Given the description of an element on the screen output the (x, y) to click on. 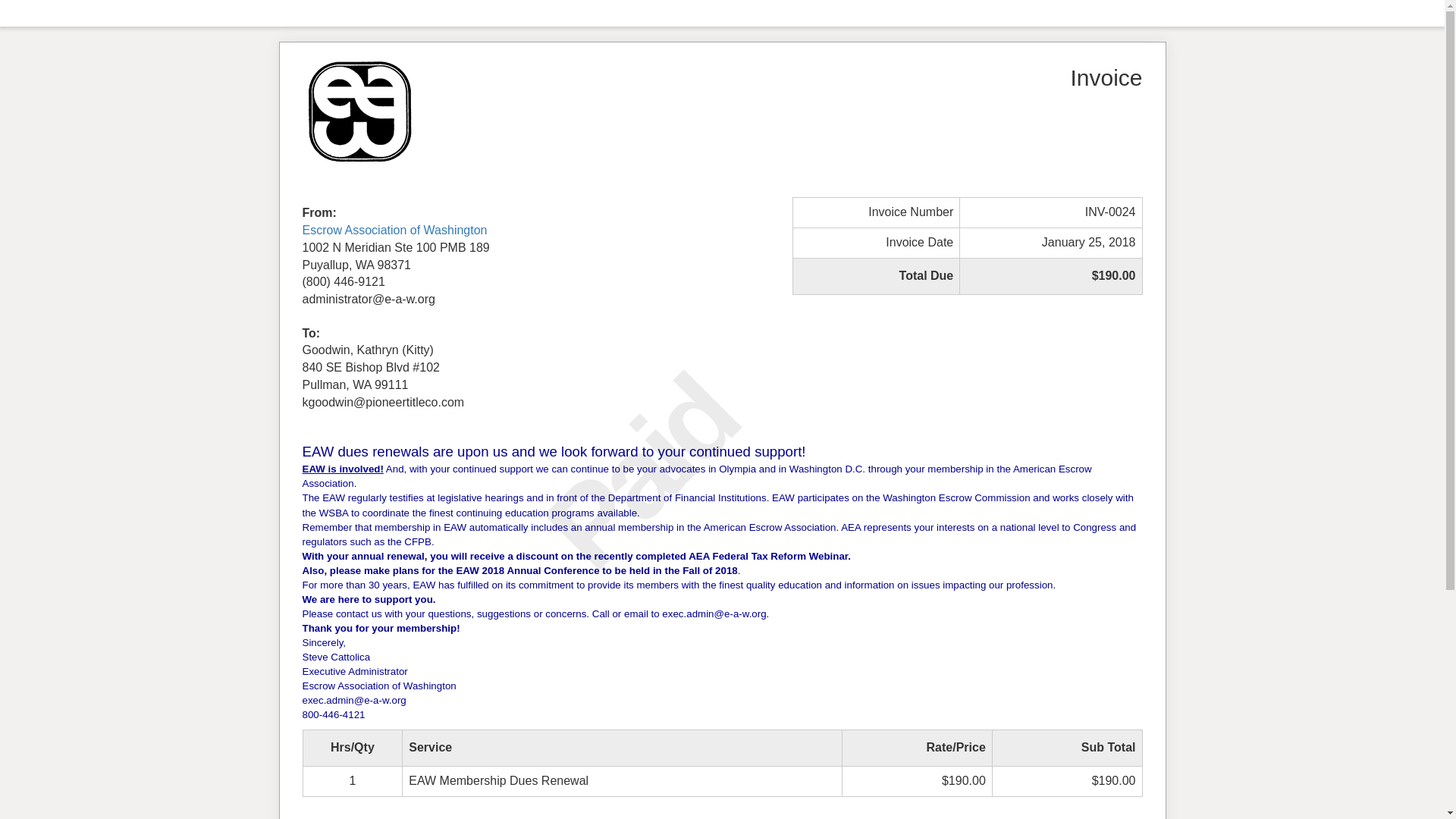
Escrow Association of Washington (393, 229)
